Given the description of an element on the screen output the (x, y) to click on. 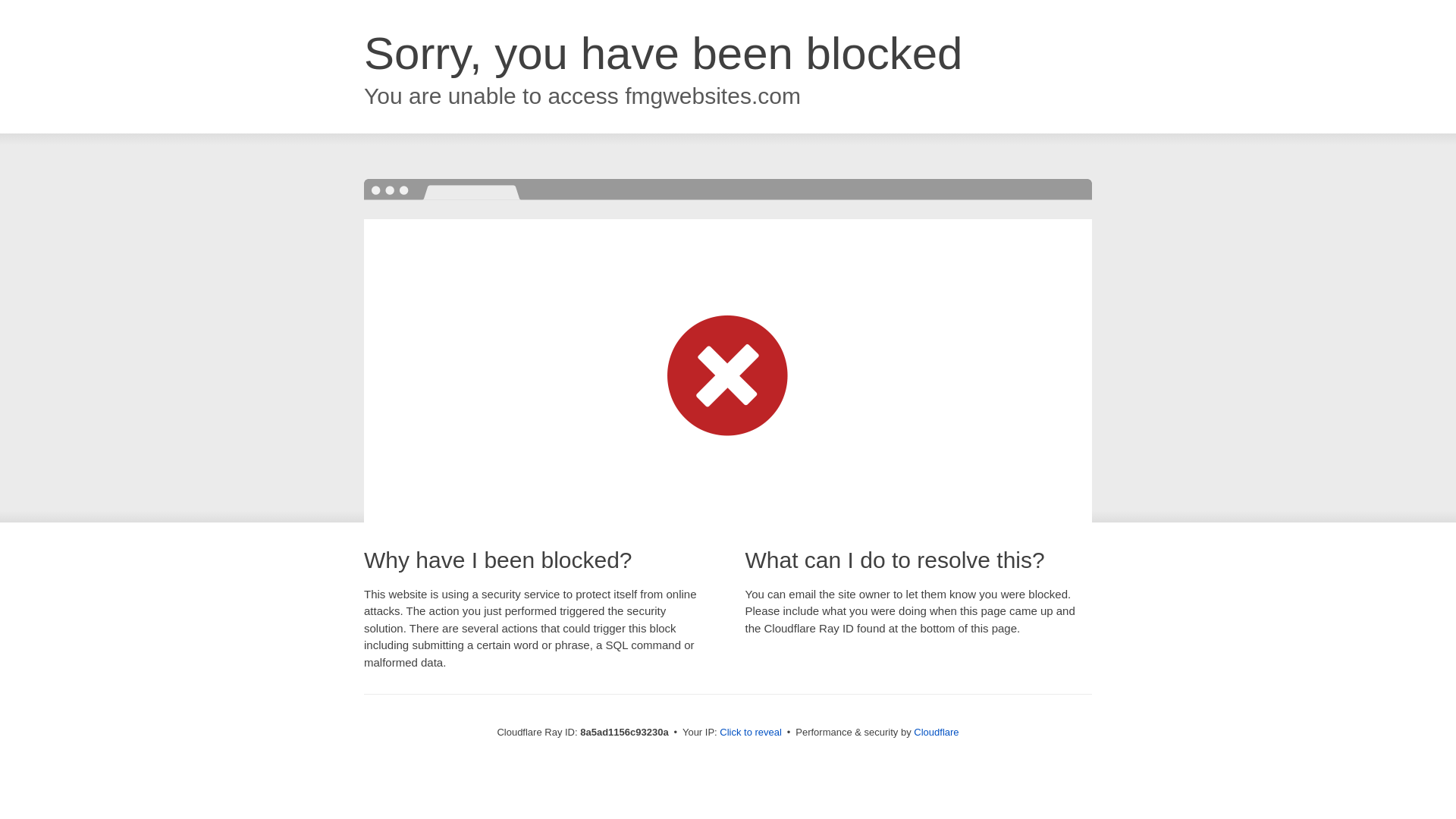
Click to reveal (750, 732)
Cloudflare (936, 731)
